Given the description of an element on the screen output the (x, y) to click on. 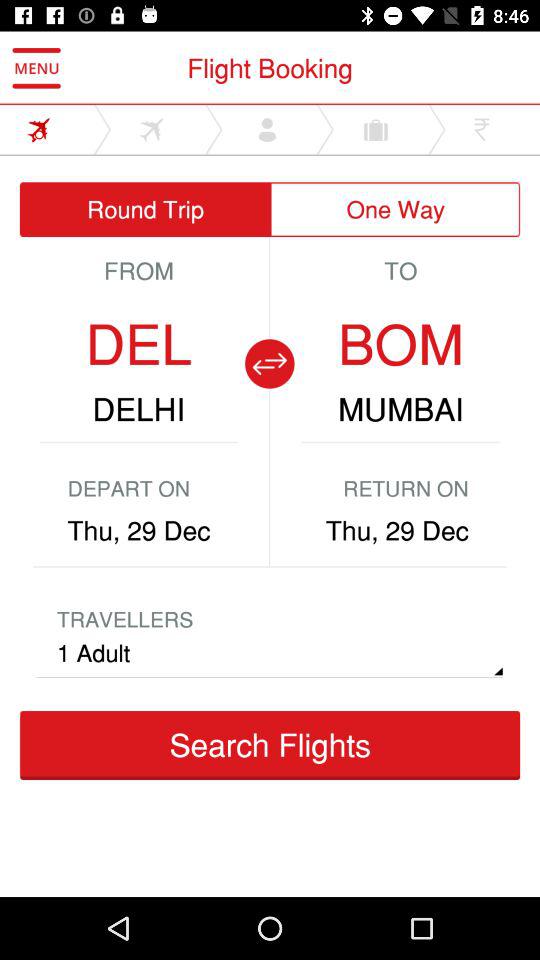
tap item to the right of del icon (269, 363)
